Given the description of an element on the screen output the (x, y) to click on. 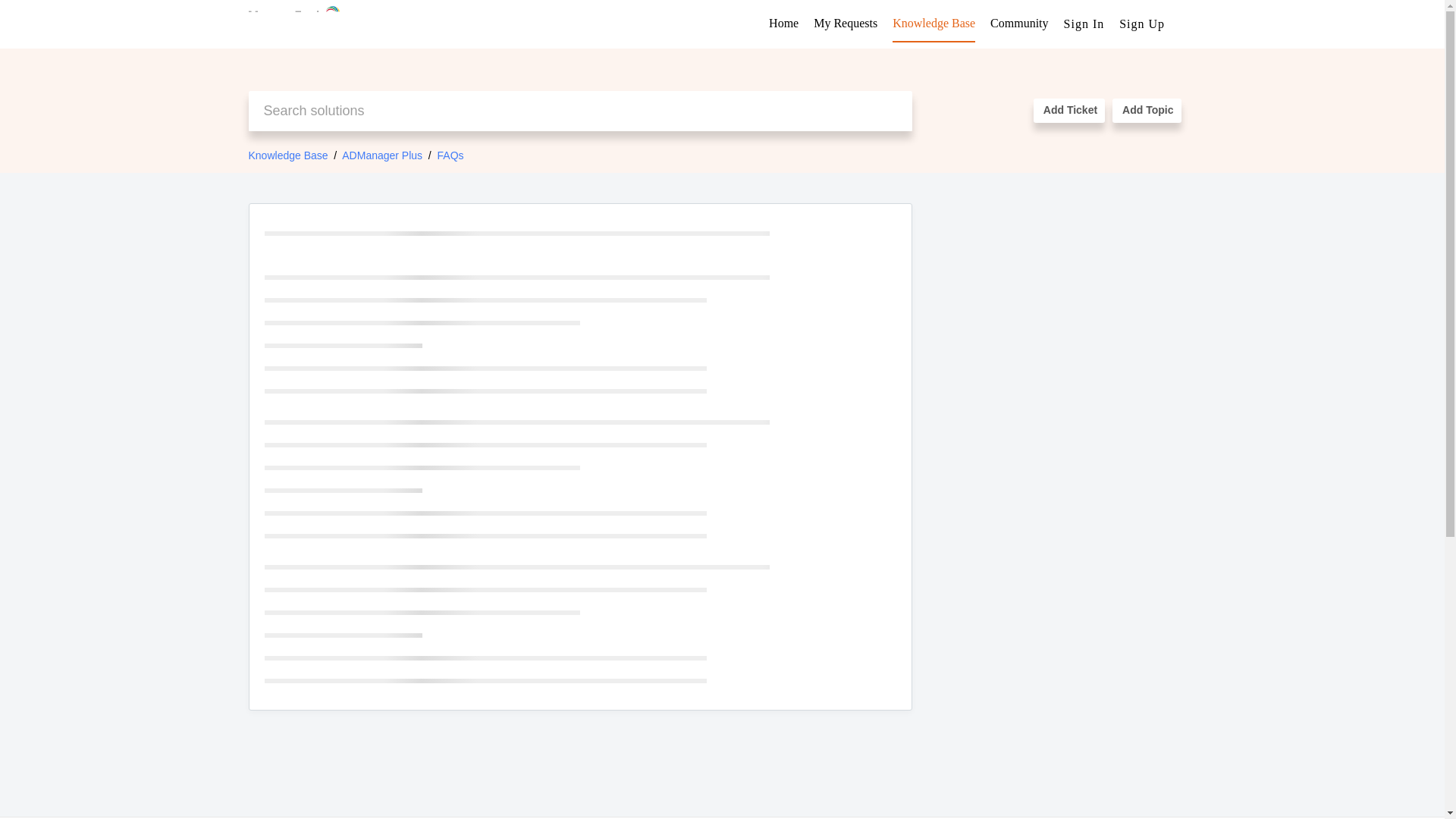
FAQs (451, 155)
Add Ticket (1069, 110)
ADManager Plus (382, 155)
Knowledge Base (933, 22)
My Requests (845, 22)
Sign Up (1141, 23)
Add Topic (1146, 110)
Knowledge Base (288, 155)
Community (1019, 22)
Knowledge Base (933, 22)
